Given the description of an element on the screen output the (x, y) to click on. 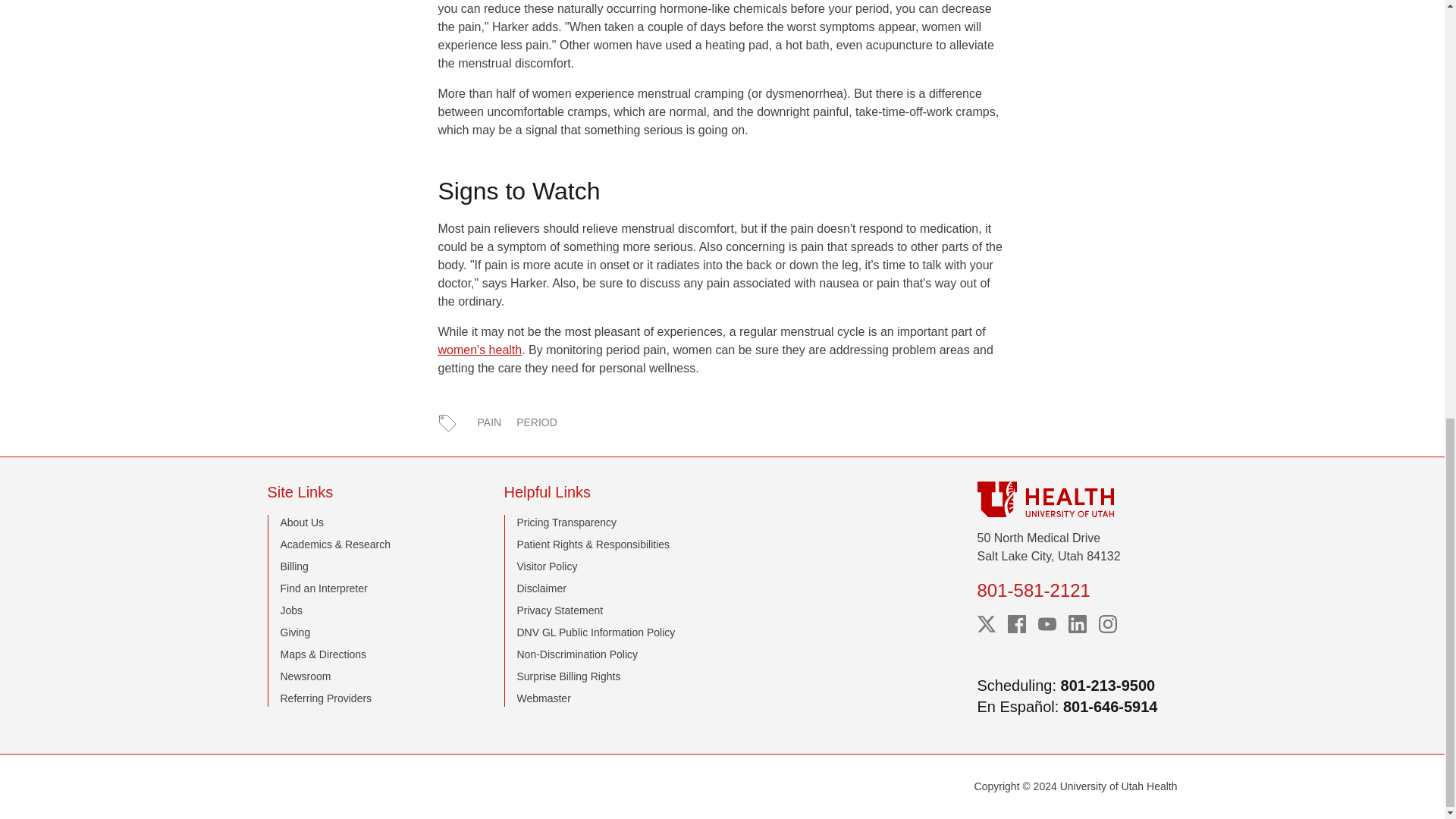
University of Utah Healthcare (1076, 498)
women's health (480, 349)
Women's Health Services (480, 349)
PAIN (489, 422)
